Given the description of an element on the screen output the (x, y) to click on. 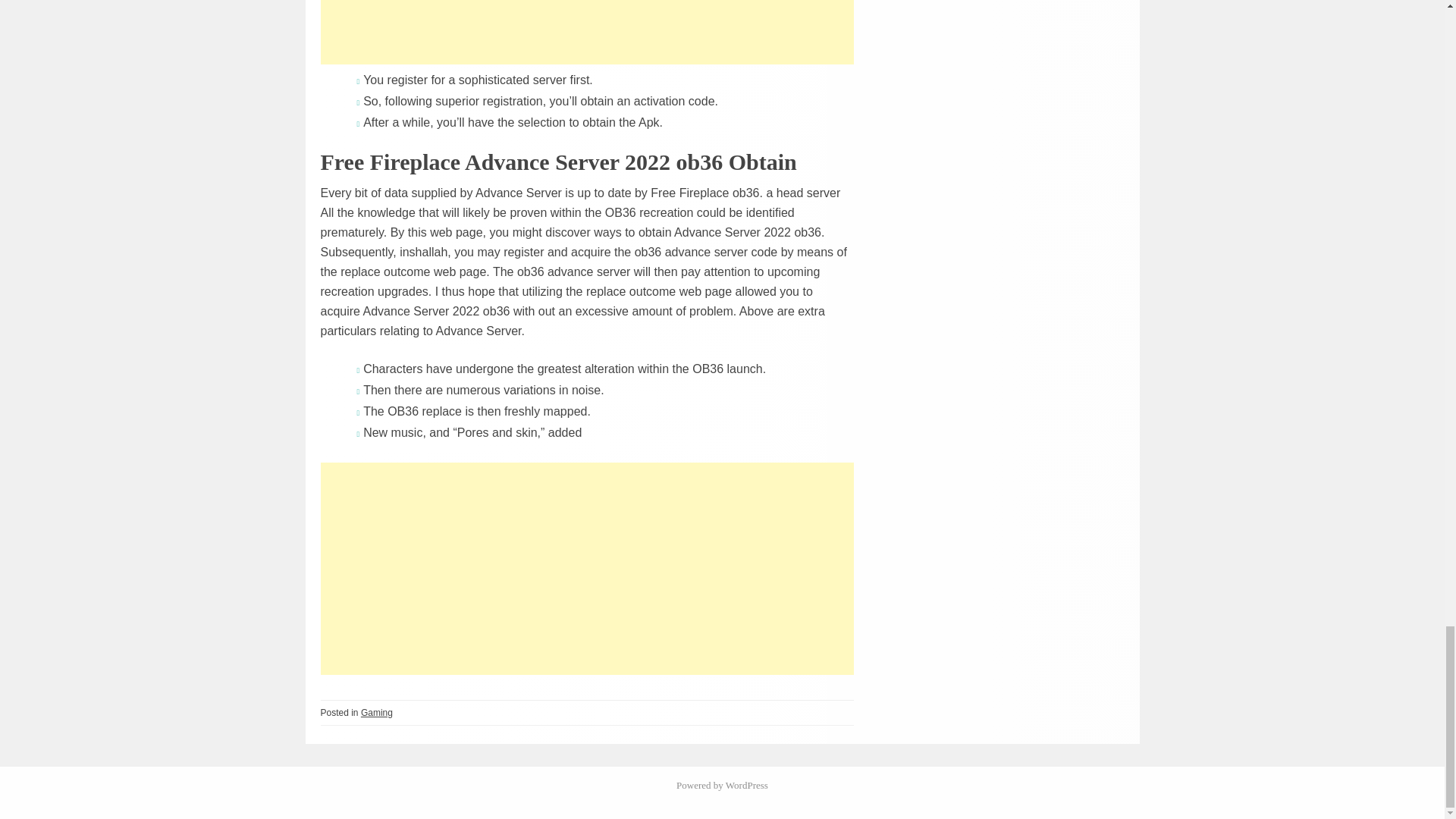
Gaming (377, 712)
